Given the description of an element on the screen output the (x, y) to click on. 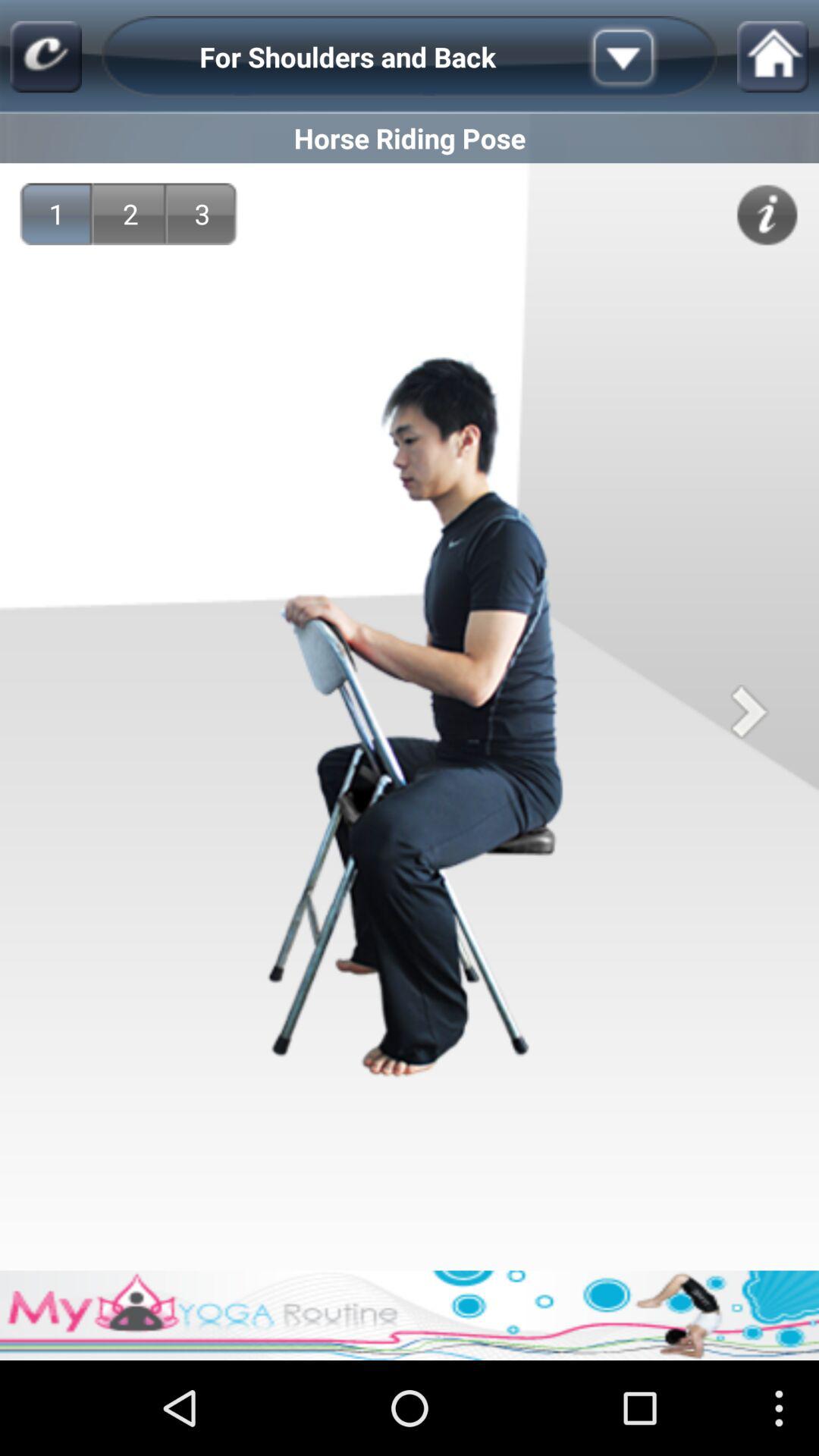
tap the item below horse riding pose item (202, 214)
